Given the description of an element on the screen output the (x, y) to click on. 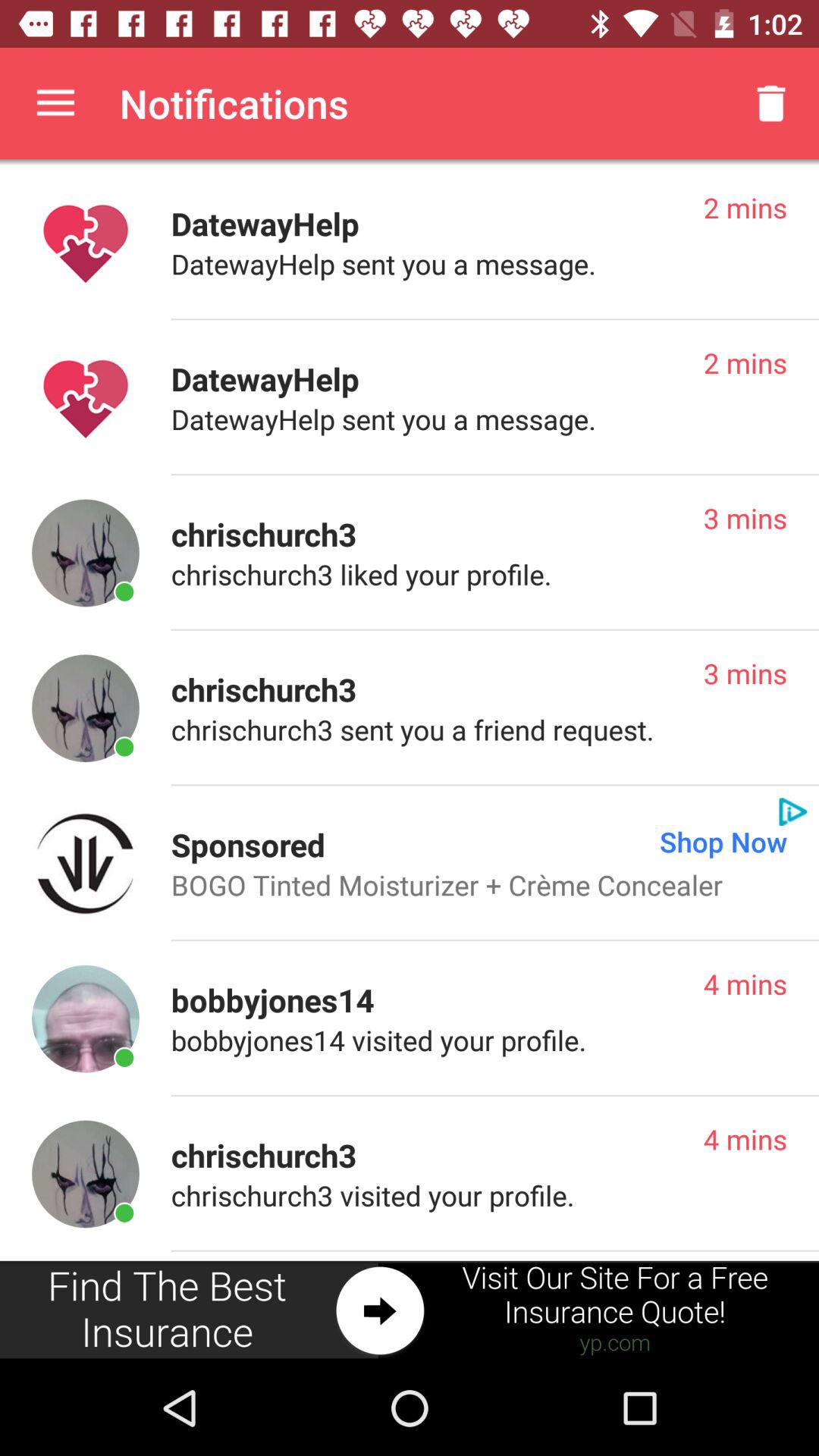
advertising (409, 1310)
